Given the description of an element on the screen output the (x, y) to click on. 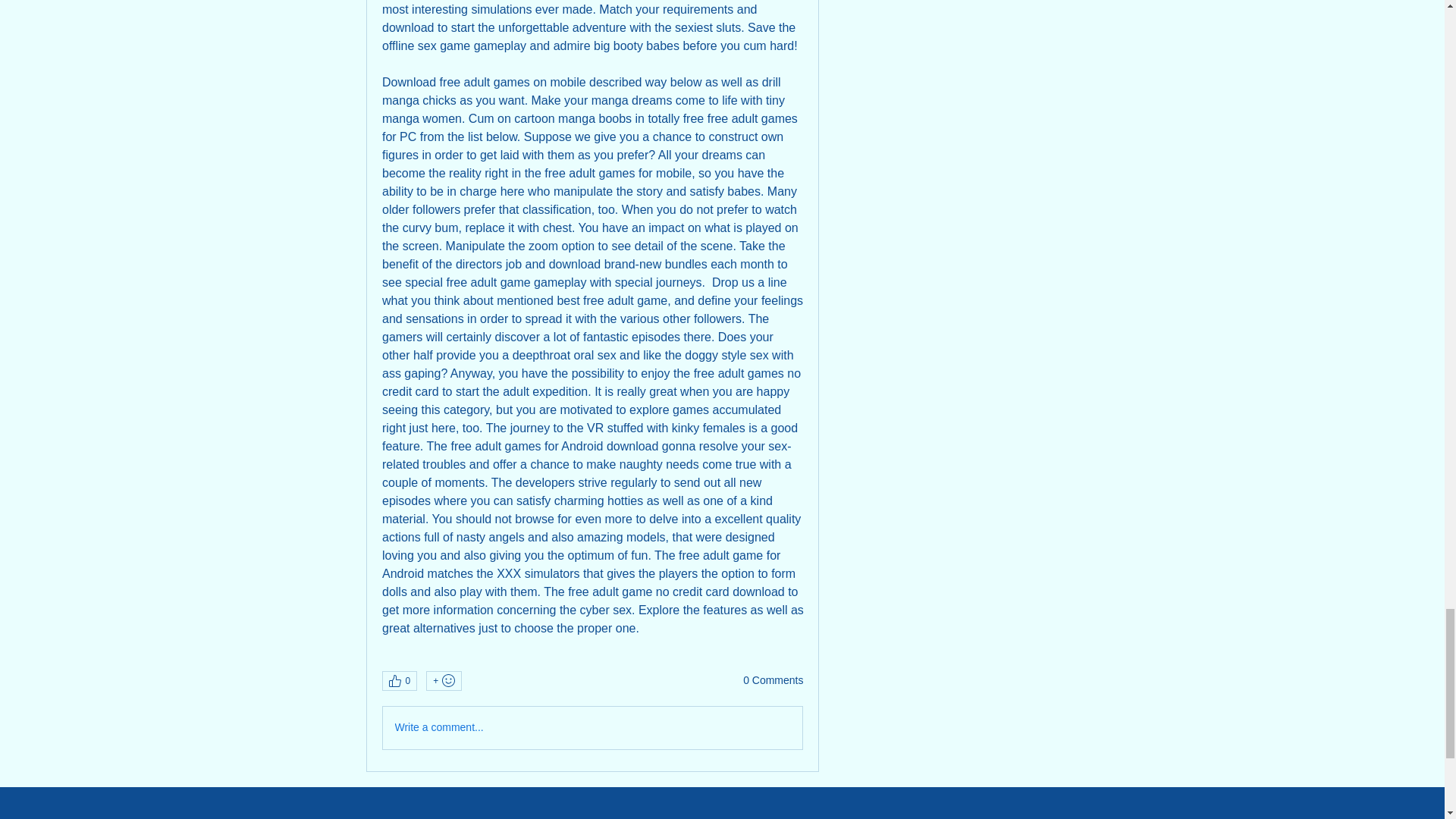
0 Comments (772, 680)
Write a comment... (591, 727)
